Given the description of an element on the screen output the (x, y) to click on. 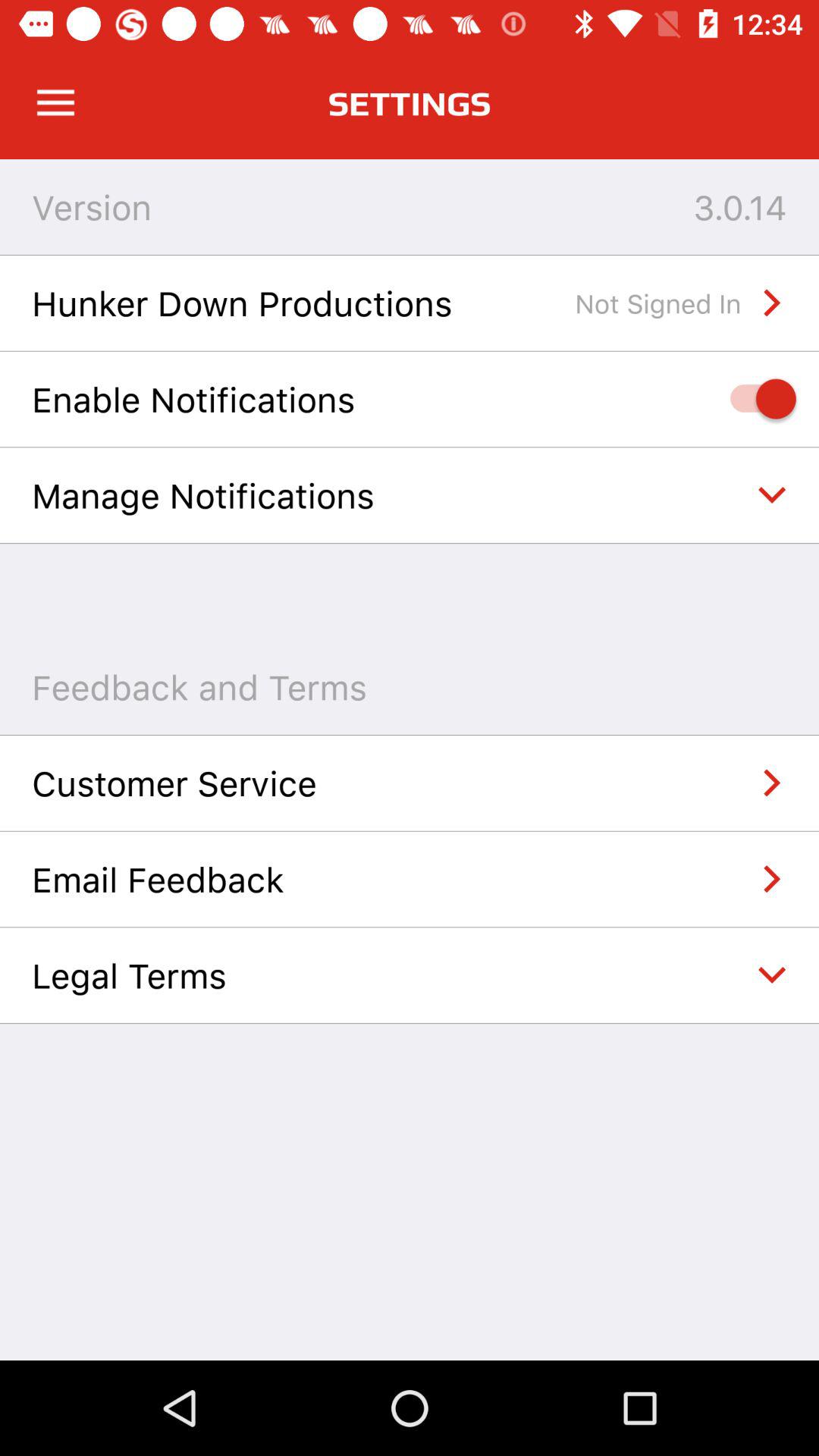
open icon to the left of settings icon (55, 103)
